Given the description of an element on the screen output the (x, y) to click on. 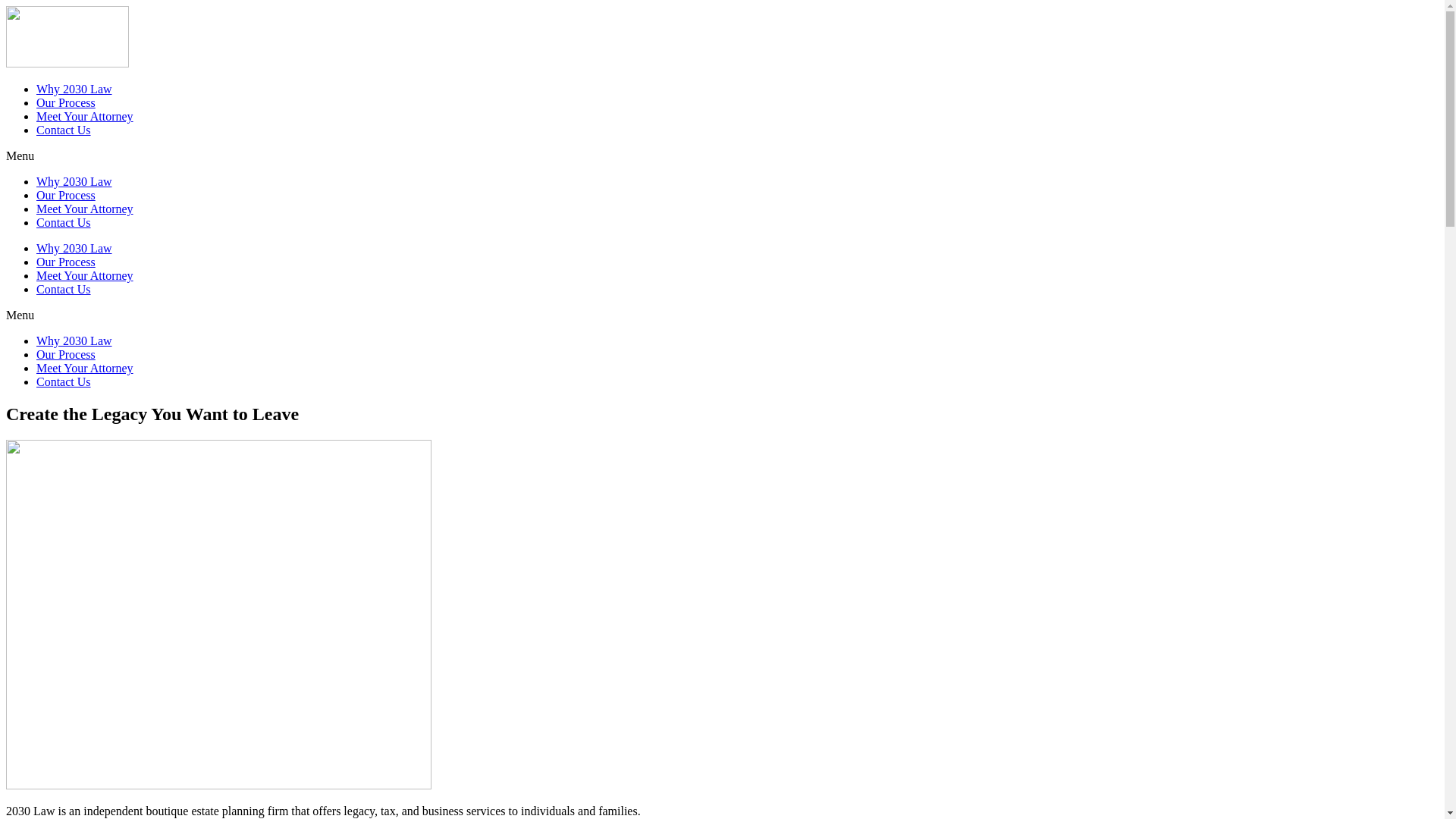
Our Process Element type: text (65, 194)
Our Process Element type: text (65, 261)
Our Process Element type: text (65, 102)
Meet Your Attorney Element type: text (84, 115)
Contact Us Element type: text (63, 288)
Meet Your Attorney Element type: text (84, 367)
Why 2030 Law Element type: text (74, 340)
Meet Your Attorney Element type: text (84, 275)
Contact Us Element type: text (63, 381)
Why 2030 Law Element type: text (74, 247)
Our Process Element type: text (65, 354)
Contact Us Element type: text (63, 129)
Meet Your Attorney Element type: text (84, 208)
Why 2030 Law Element type: text (74, 88)
Why 2030 Law Element type: text (74, 181)
Contact Us Element type: text (63, 222)
